Given the description of an element on the screen output the (x, y) to click on. 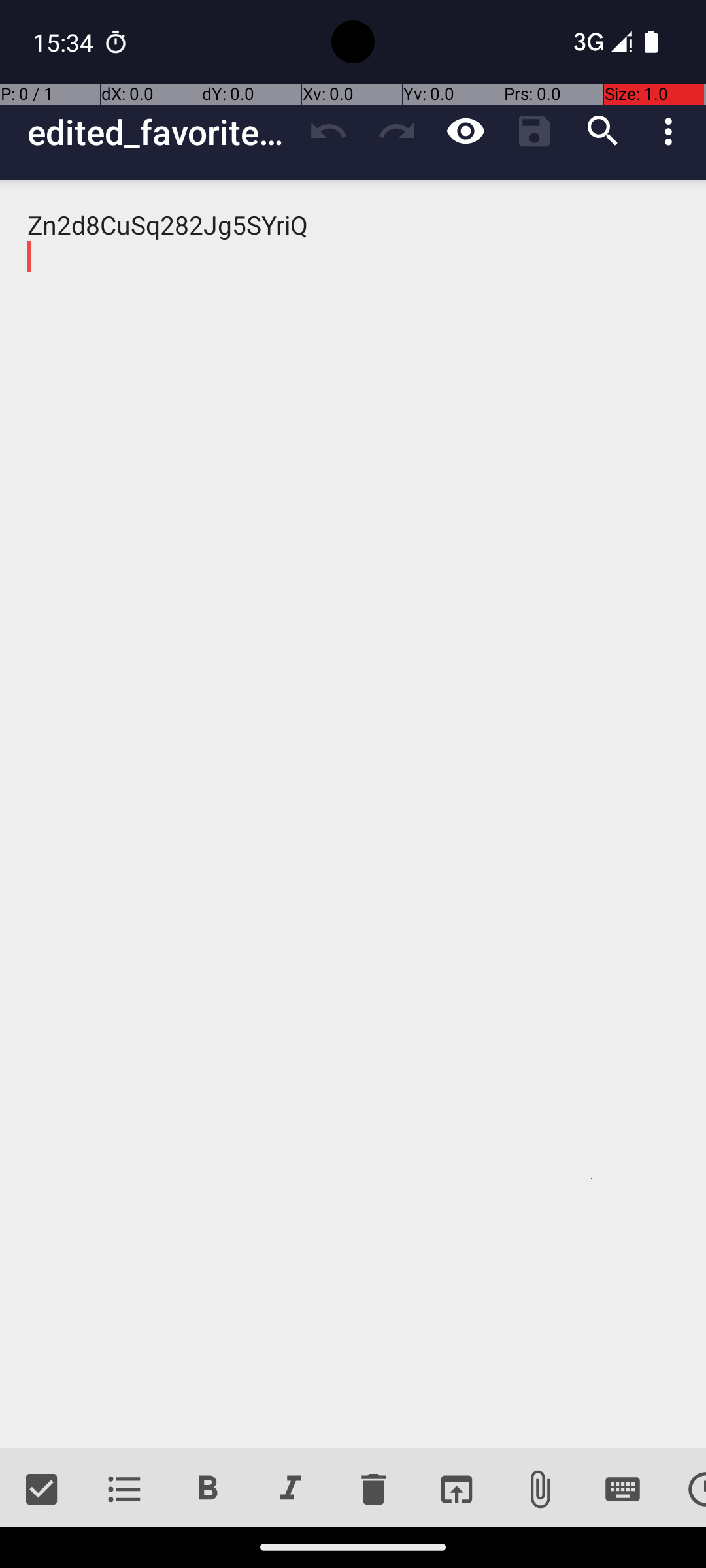
edited_favorite_book_quotes Element type: android.widget.TextView (160, 131)
Zn2d8CuSq282Jg5SYriQ
 Element type: android.widget.EditText (353, 813)
